Given the description of an element on the screen output the (x, y) to click on. 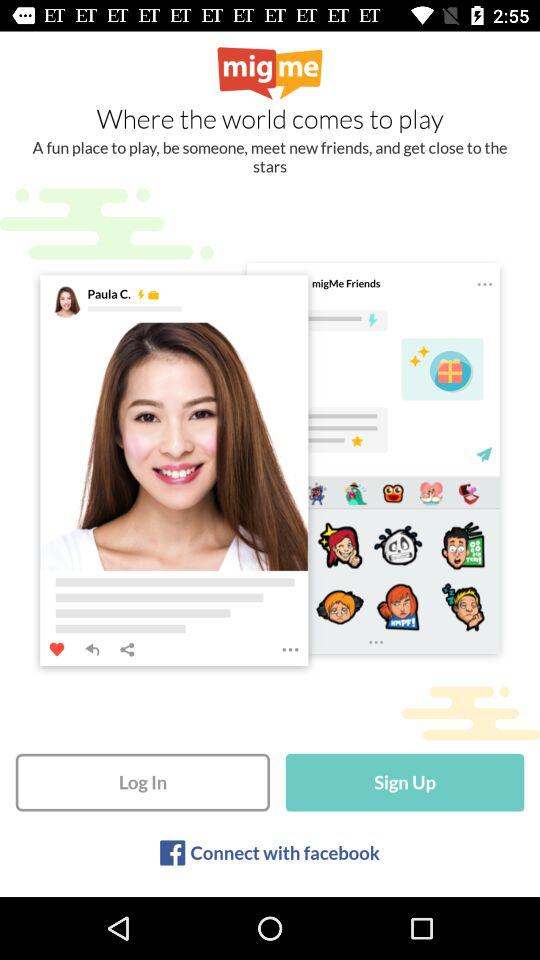
open the connect with facebook icon (284, 852)
